Given the description of an element on the screen output the (x, y) to click on. 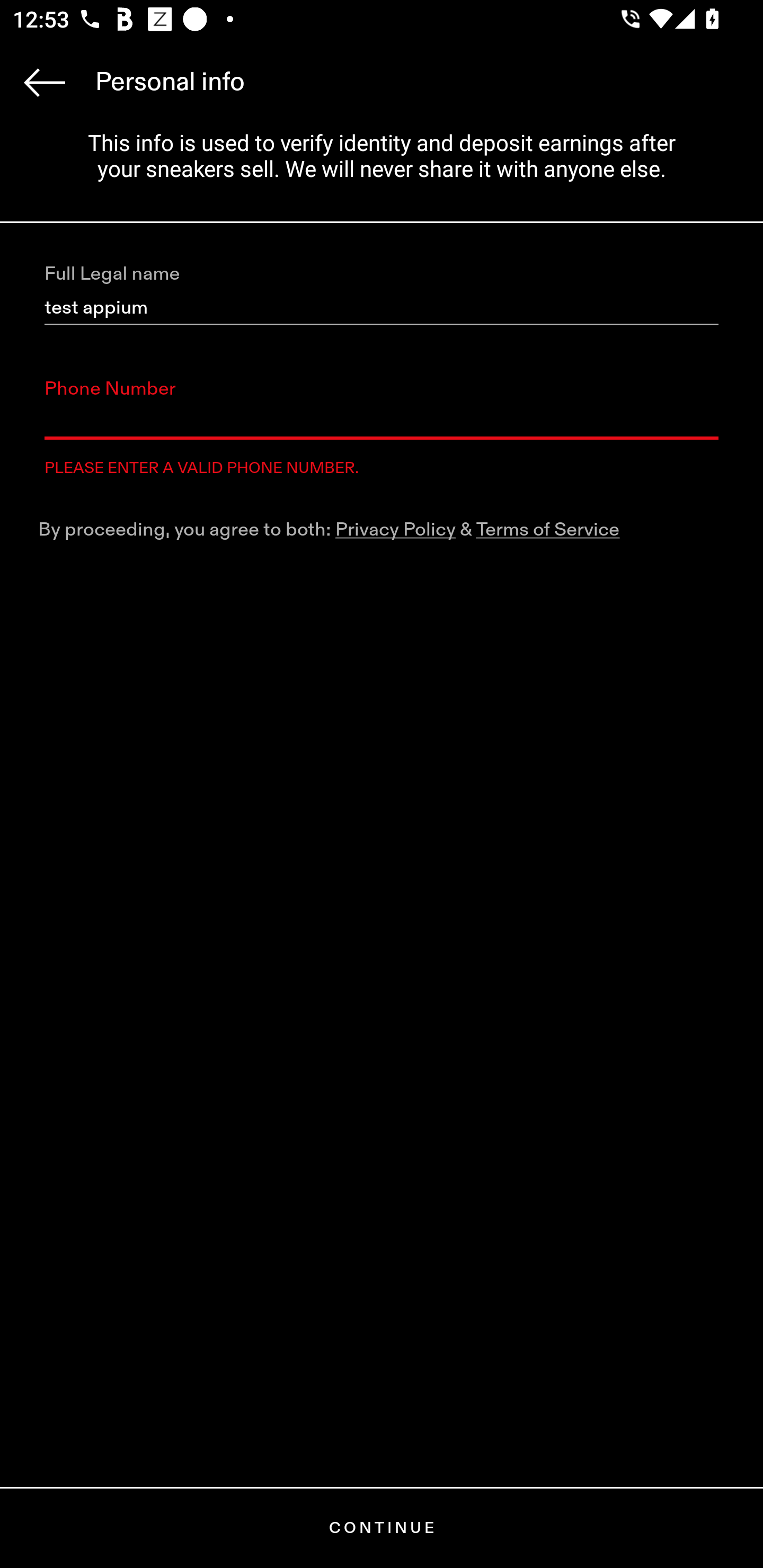
Navigate up (44, 82)
test appium (381, 308)
Phone Number (381, 422)
CONTINUE (381, 1528)
